Given the description of an element on the screen output the (x, y) to click on. 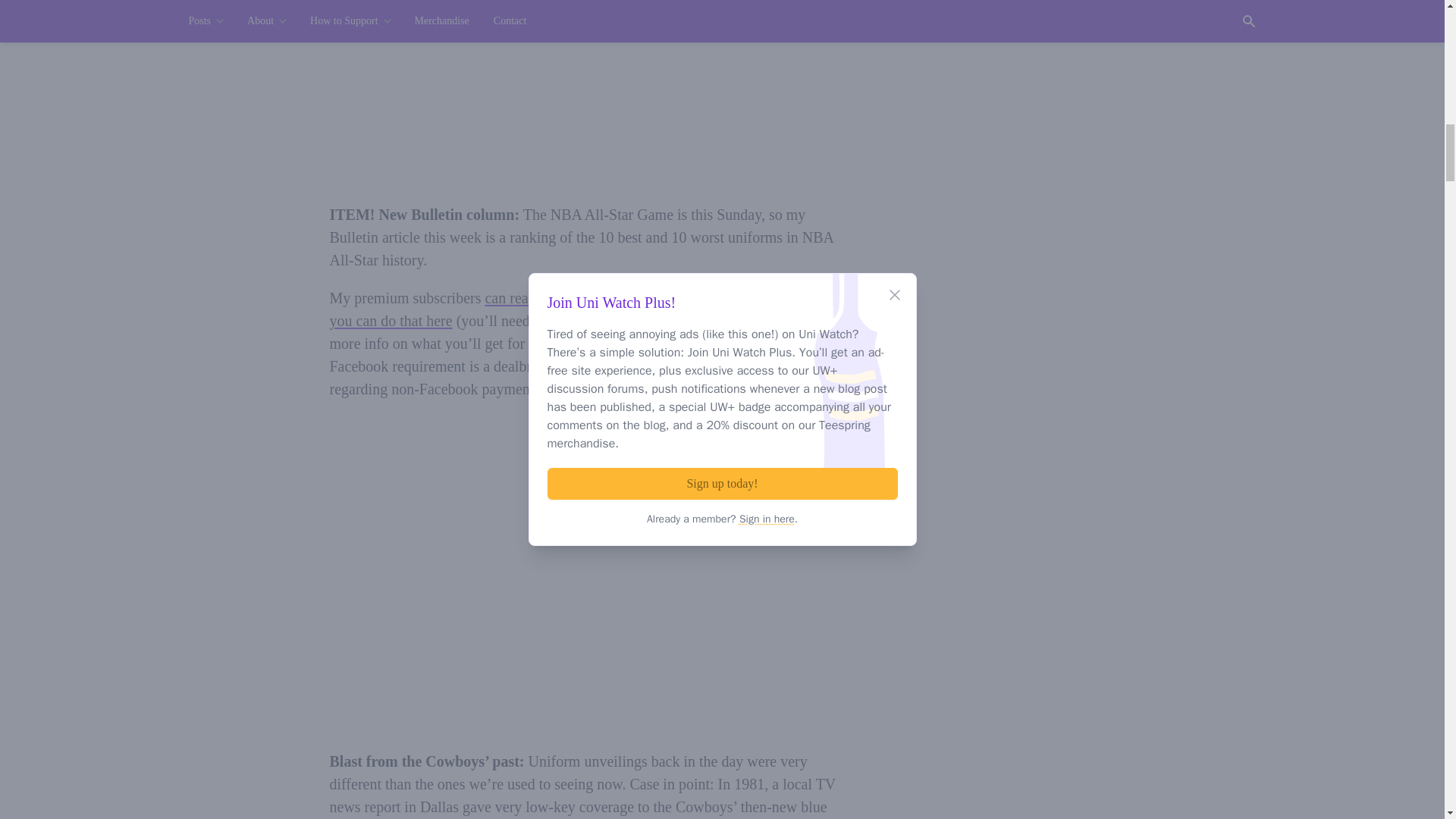
YouTube video player (584, 617)
